Given the description of an element on the screen output the (x, y) to click on. 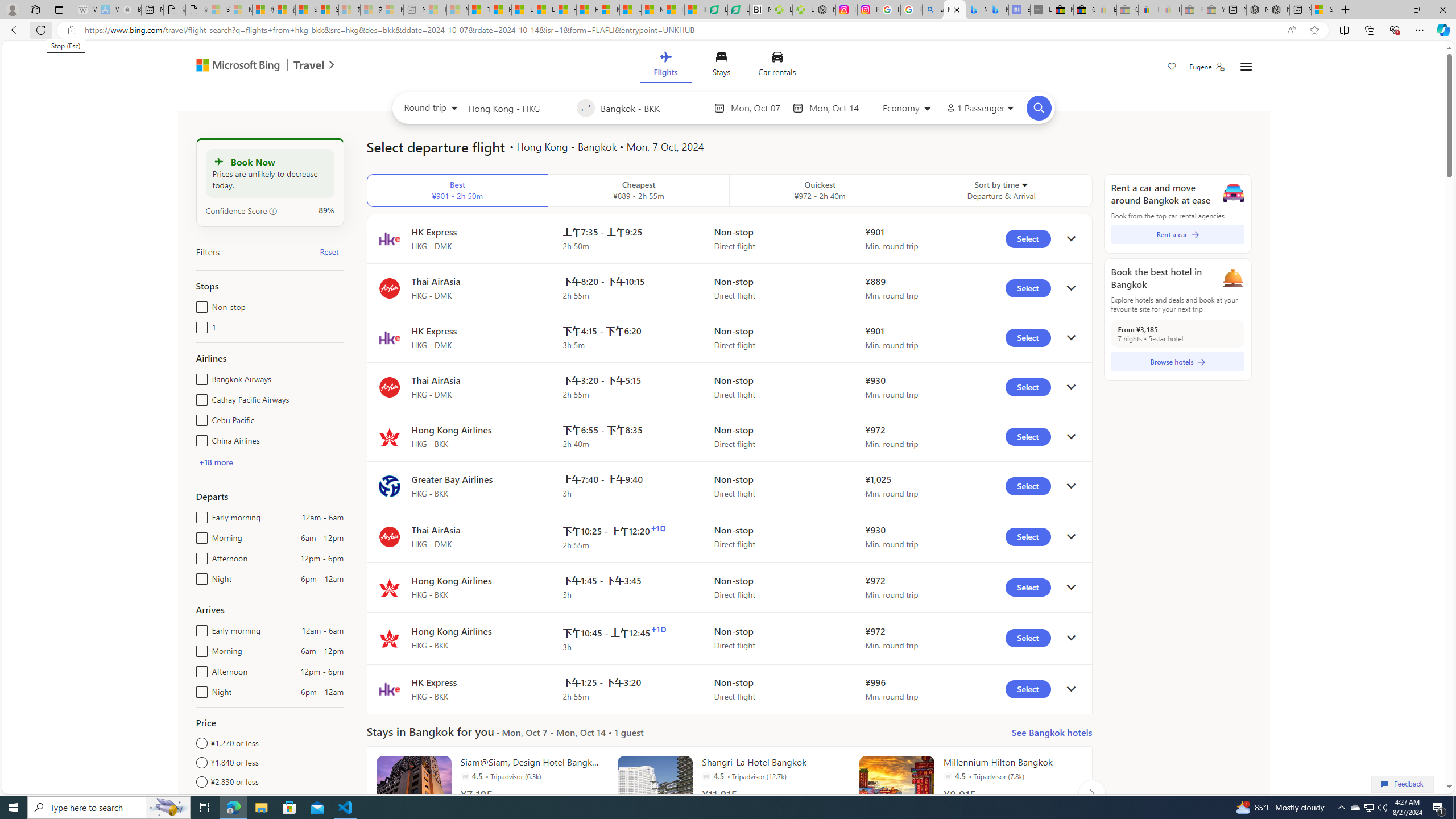
Morning6am - 12pm (199, 648)
Leaving from? (518, 107)
Save (1171, 67)
Non-stop (199, 304)
Wikipedia - Sleeping (85, 9)
Start Date (758, 107)
Night6pm - 12am (199, 689)
Class: msft-travel-logo (308, 64)
